Given the description of an element on the screen output the (x, y) to click on. 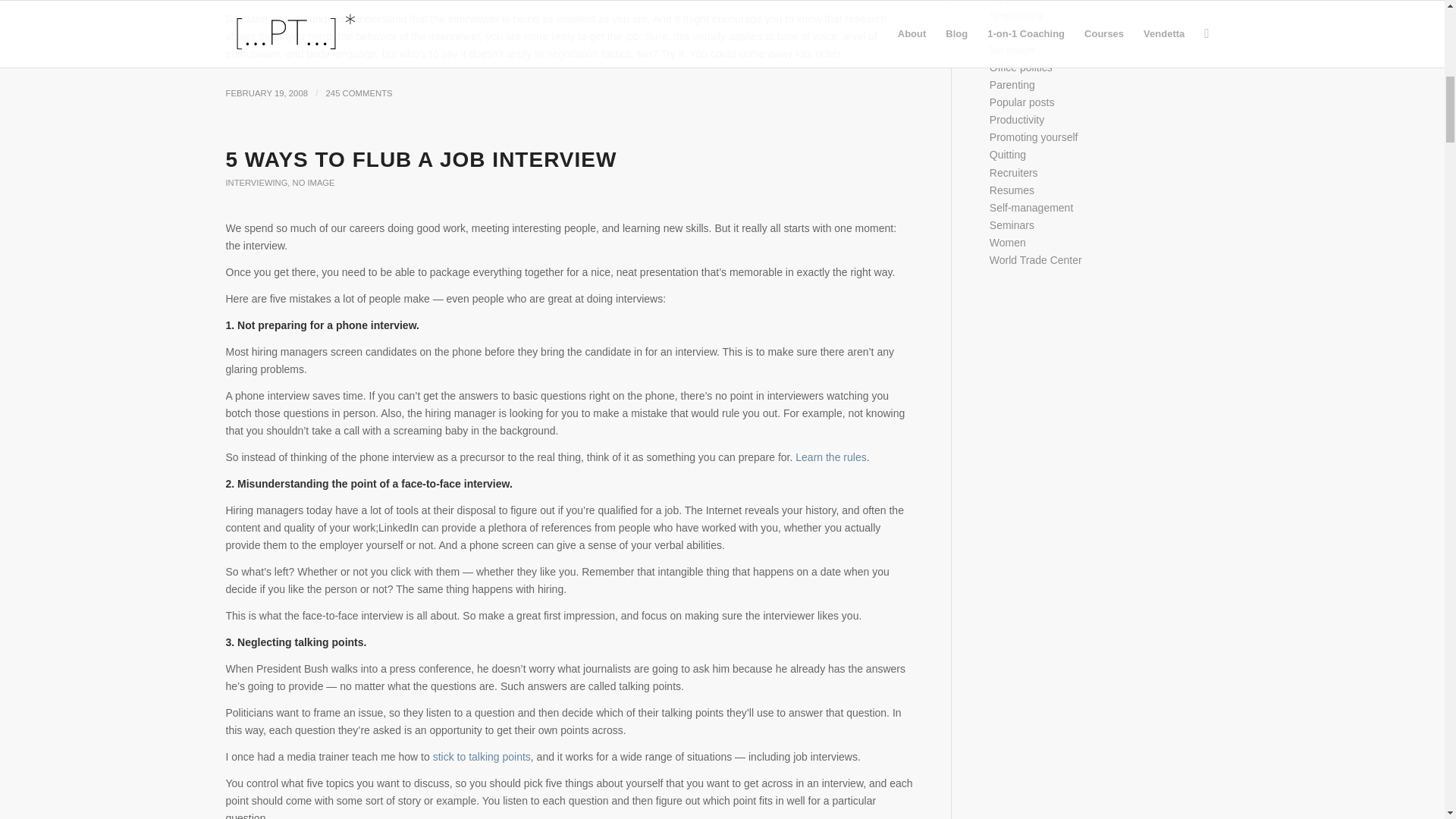
Permanent Link: 5 Ways to flub a job interview (421, 159)
INTERVIEWING (256, 182)
NO IMAGE (313, 182)
5 WAYS TO FLUB A JOB INTERVIEW (421, 159)
245 COMMENTS (359, 92)
Learn the rules (830, 457)
stick to talking points (481, 756)
